Given the description of an element on the screen output the (x, y) to click on. 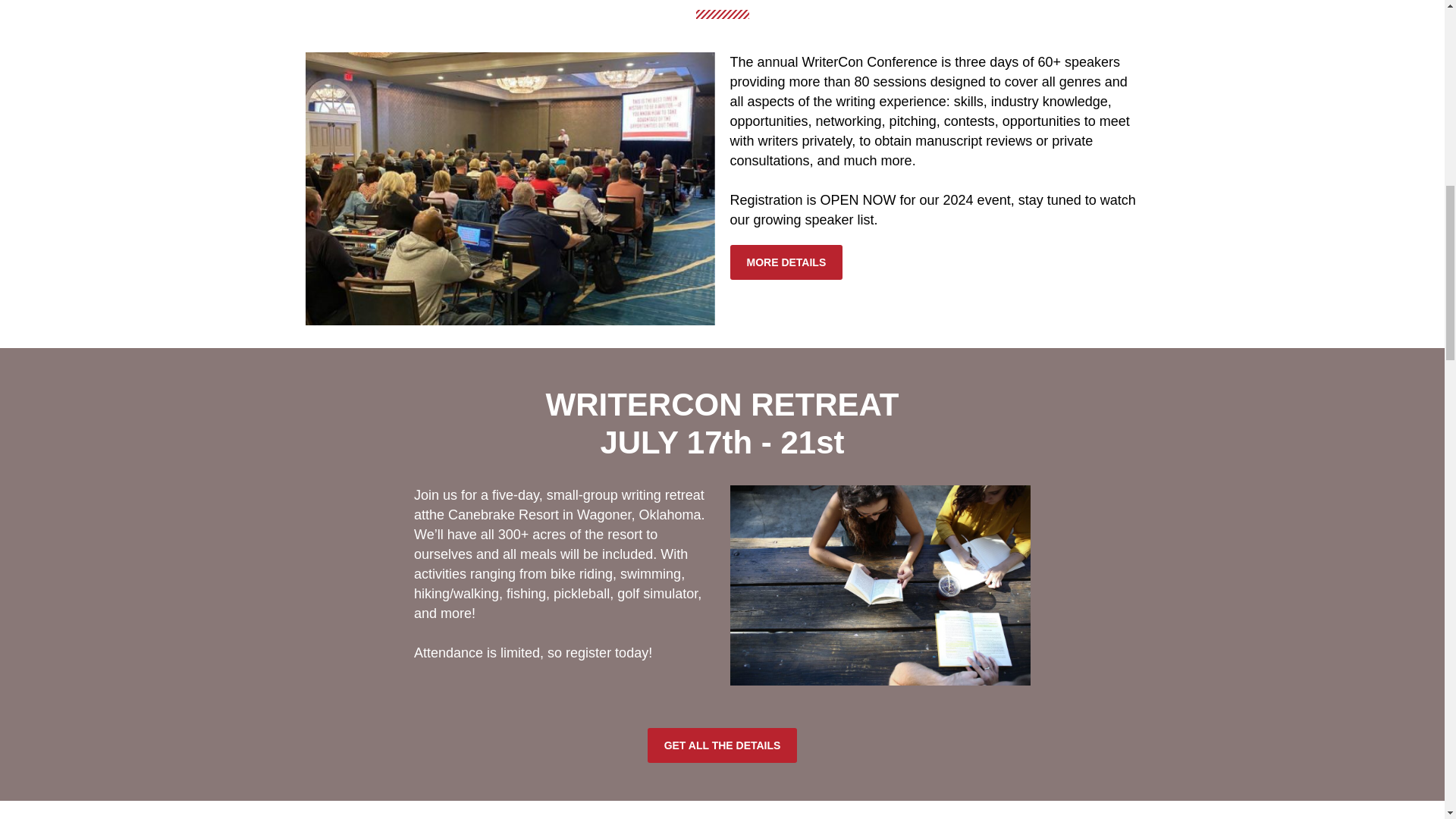
Orientation (509, 188)
MORE DETAILS (786, 262)
GET ALL THE DETAILS (722, 745)
